Given the description of an element on the screen output the (x, y) to click on. 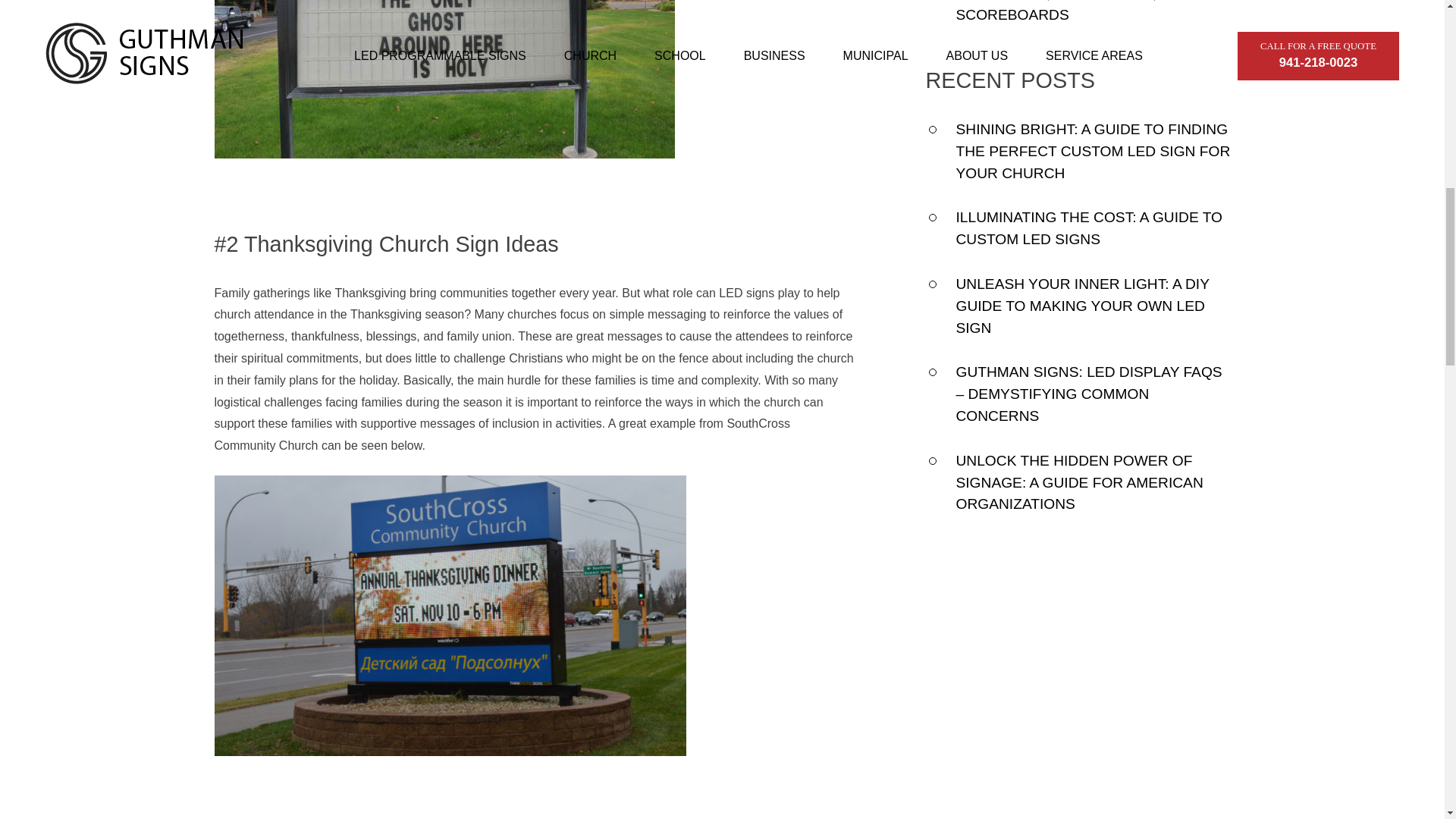
ILLUMINATING THE COST: A GUIDE TO CUSTOM LED SIGNS (1089, 228)
